Given the description of an element on the screen output the (x, y) to click on. 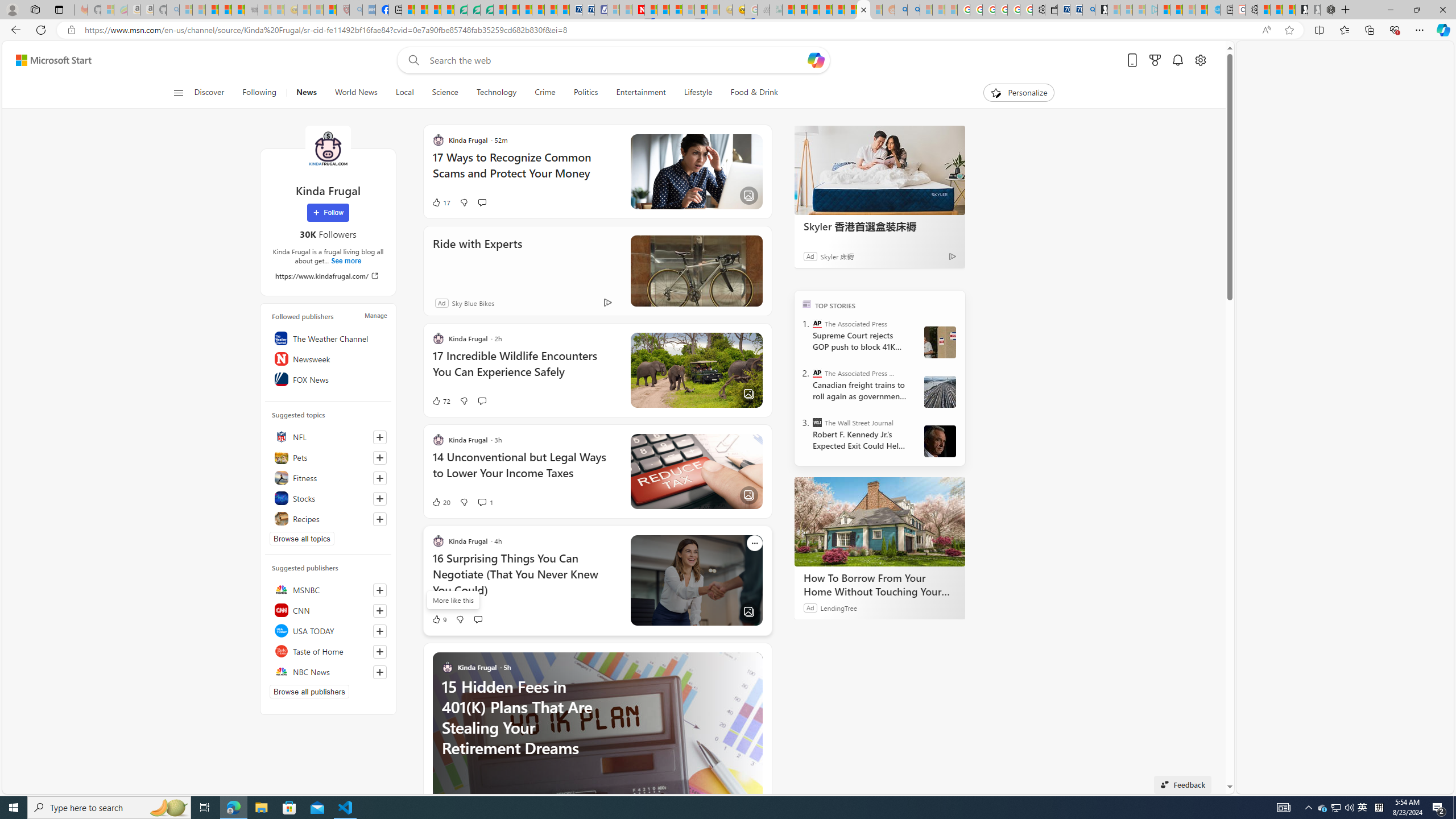
Enter your search term (617, 59)
